Given the description of an element on the screen output the (x, y) to click on. 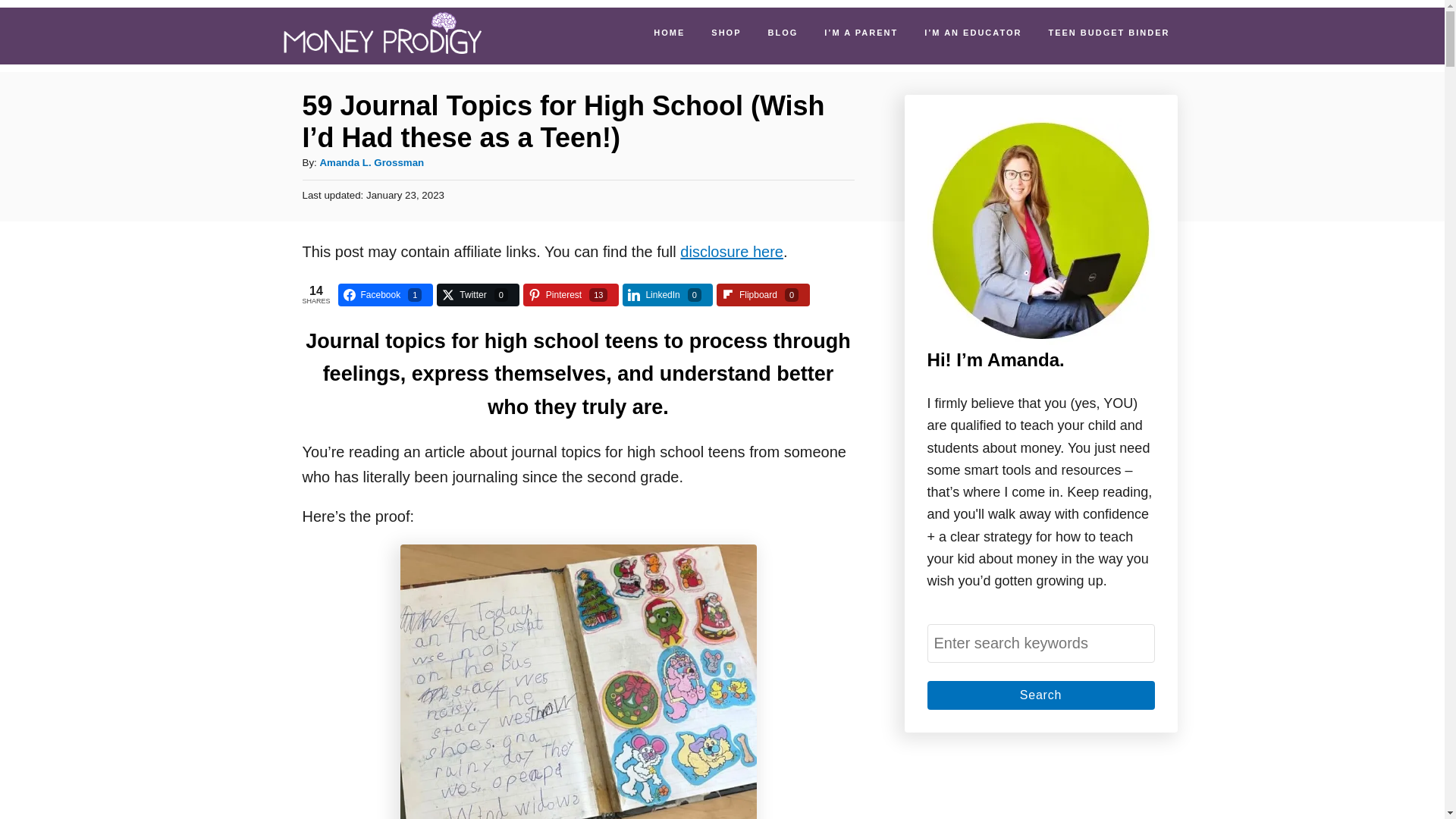
Search (1040, 695)
disclosure here (731, 251)
BLOG (783, 31)
Flipboard0 (762, 294)
Facebook1 (385, 294)
LinkedIn0 (668, 294)
Amanda L. Grossman (370, 162)
Money Prodigy (382, 35)
Search (1040, 695)
HOME (669, 31)
Twitter0 (477, 294)
Pinterest13 (571, 294)
Share on Pinterest (571, 294)
Share on LinkedIn (668, 294)
Share on Facebook (385, 294)
